Given the description of an element on the screen output the (x, y) to click on. 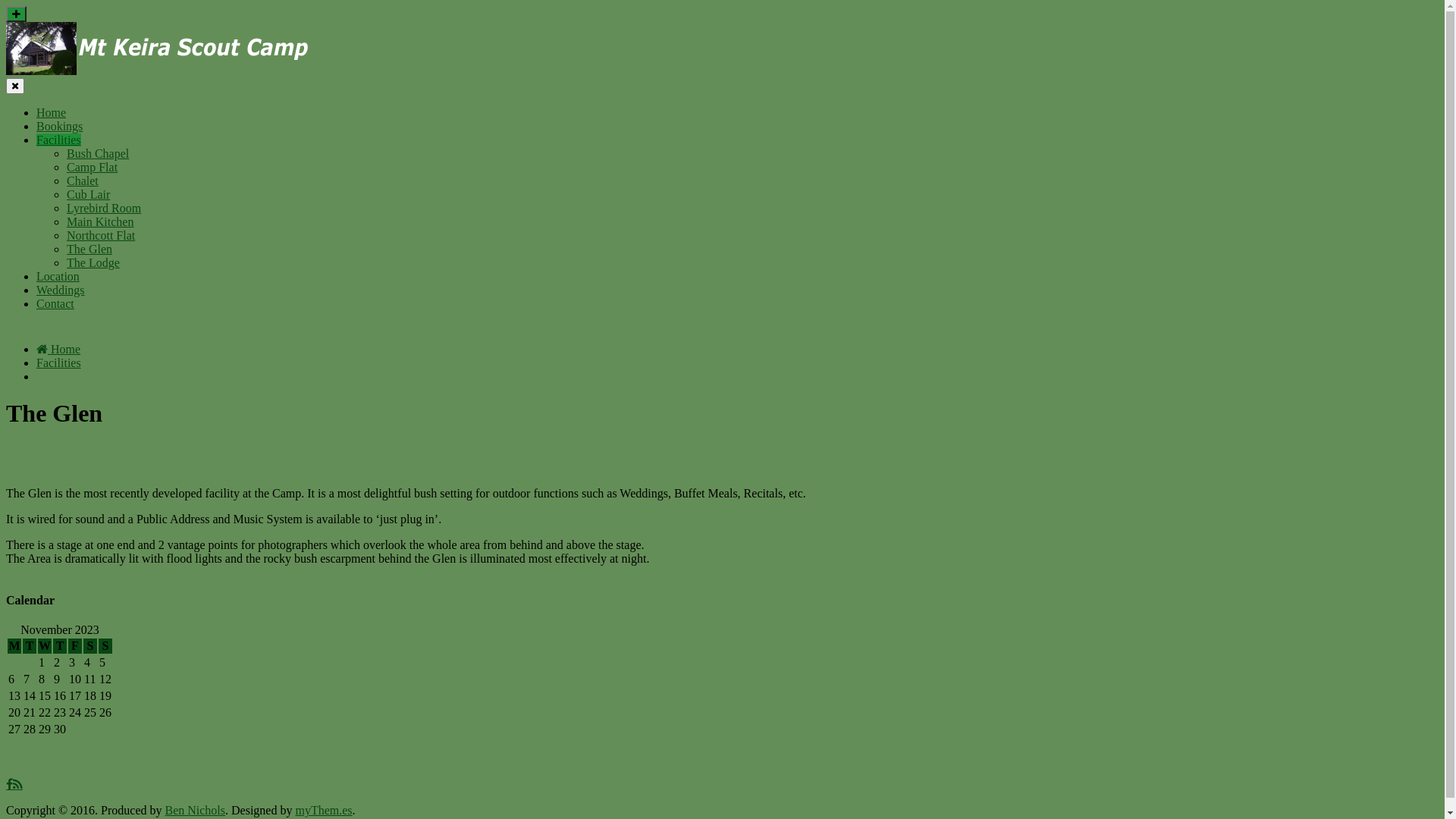
The Glen Element type: text (89, 248)
Ben Nichols Element type: text (194, 809)
Mt Keira Scout Camp - SC&T Region Scouts Element type: hover (157, 48)
Bookings Element type: text (59, 125)
Contact Element type: text (55, 303)
Bush Chapel Element type: text (97, 153)
Cub Lair Element type: text (87, 194)
Camp Flat Element type: text (91, 166)
Home Element type: text (58, 348)
Northcott Flat Element type: text (100, 235)
Lyrebird Room Element type: text (103, 207)
Home Element type: text (50, 112)
Mt Keira Scout Camp - SC&T Region Scouts Element type: hover (157, 70)
Facilities Element type: text (58, 362)
Facilities Element type: text (58, 139)
Weddings Element type: text (60, 289)
Main Kitchen Element type: text (99, 221)
Chalet Element type: text (82, 180)
myThem.es Element type: text (322, 809)
The Lodge Element type: text (92, 262)
Location Element type: text (57, 275)
